Given the description of an element on the screen output the (x, y) to click on. 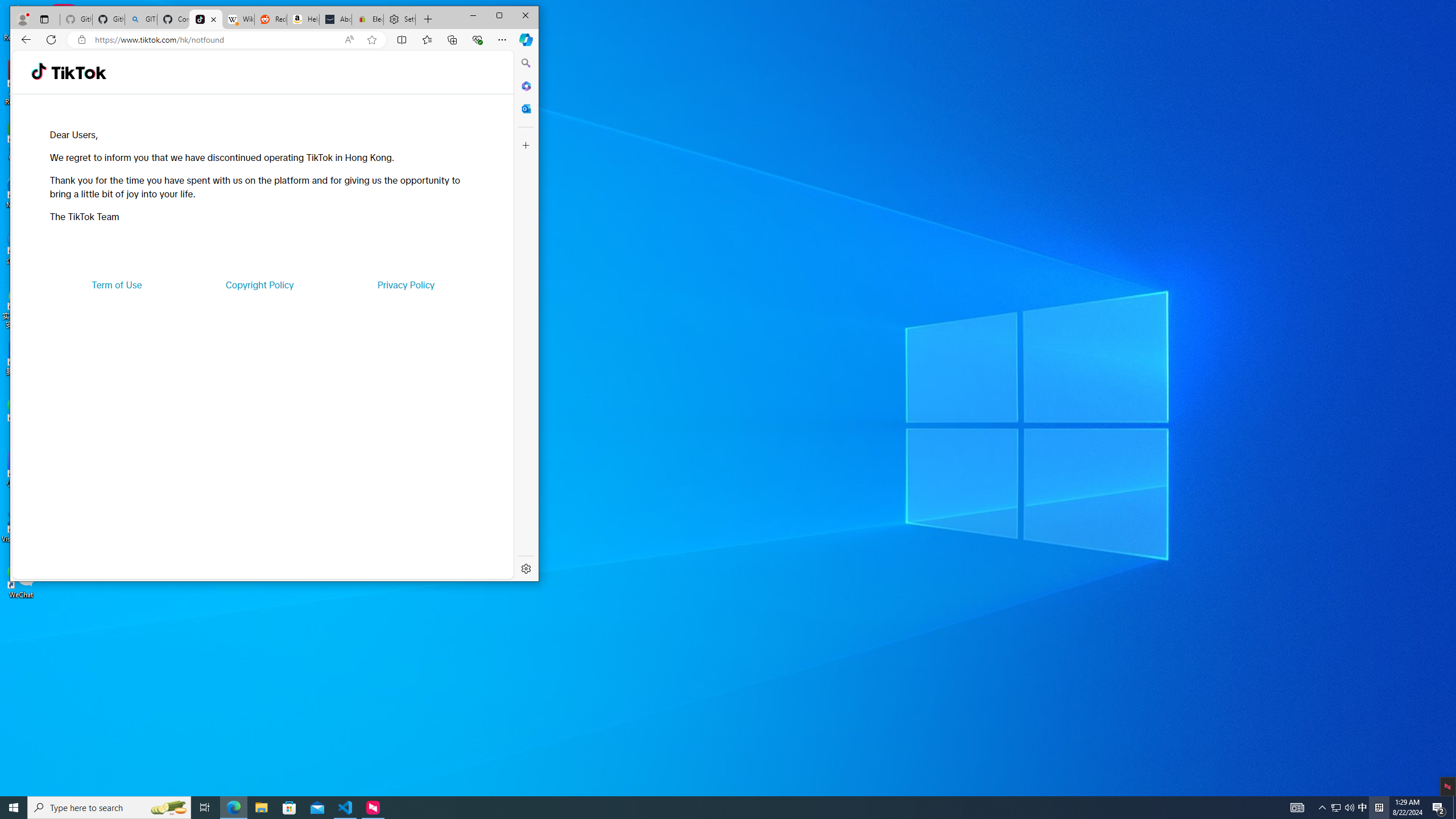
Task View (204, 807)
Wikipedia, the free encyclopedia (237, 19)
